Given the description of an element on the screen output the (x, y) to click on. 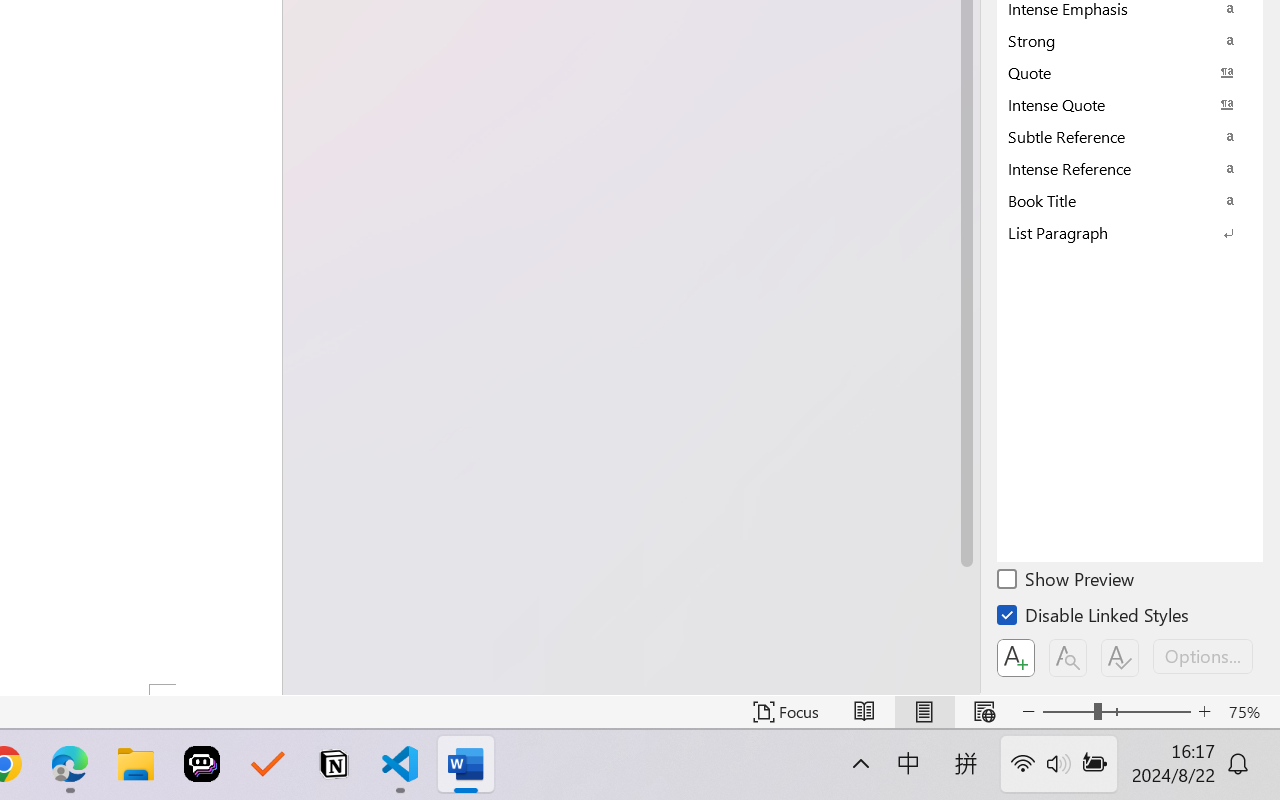
Intense Reference (1130, 168)
Show Preview (1067, 582)
